Given the description of an element on the screen output the (x, y) to click on. 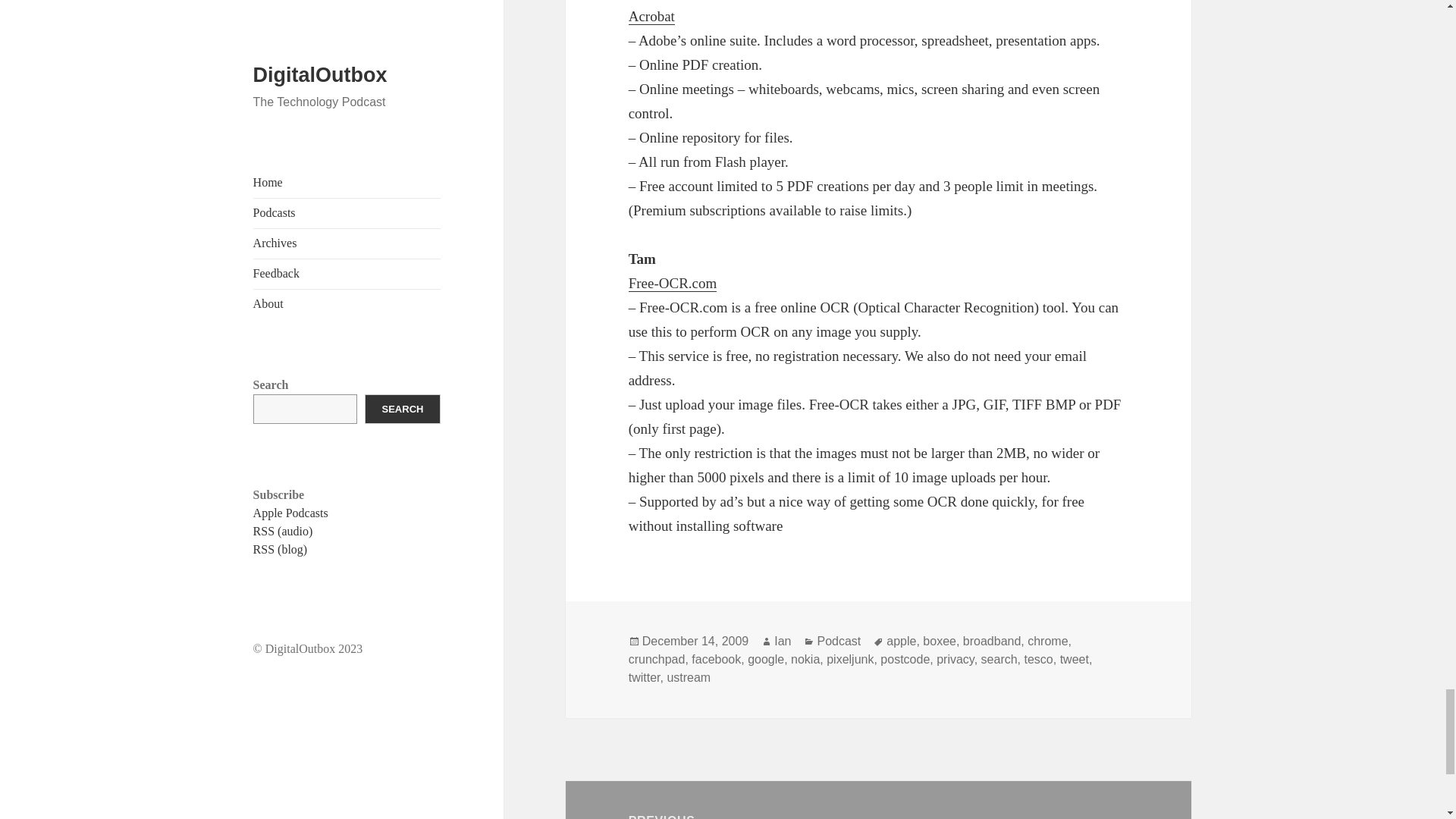
apple (900, 641)
Acrobat (651, 16)
Ian (782, 641)
Podcast (838, 641)
December 14, 2009 (695, 641)
boxee (939, 641)
Free-OCR.com (672, 283)
